Given the description of an element on the screen output the (x, y) to click on. 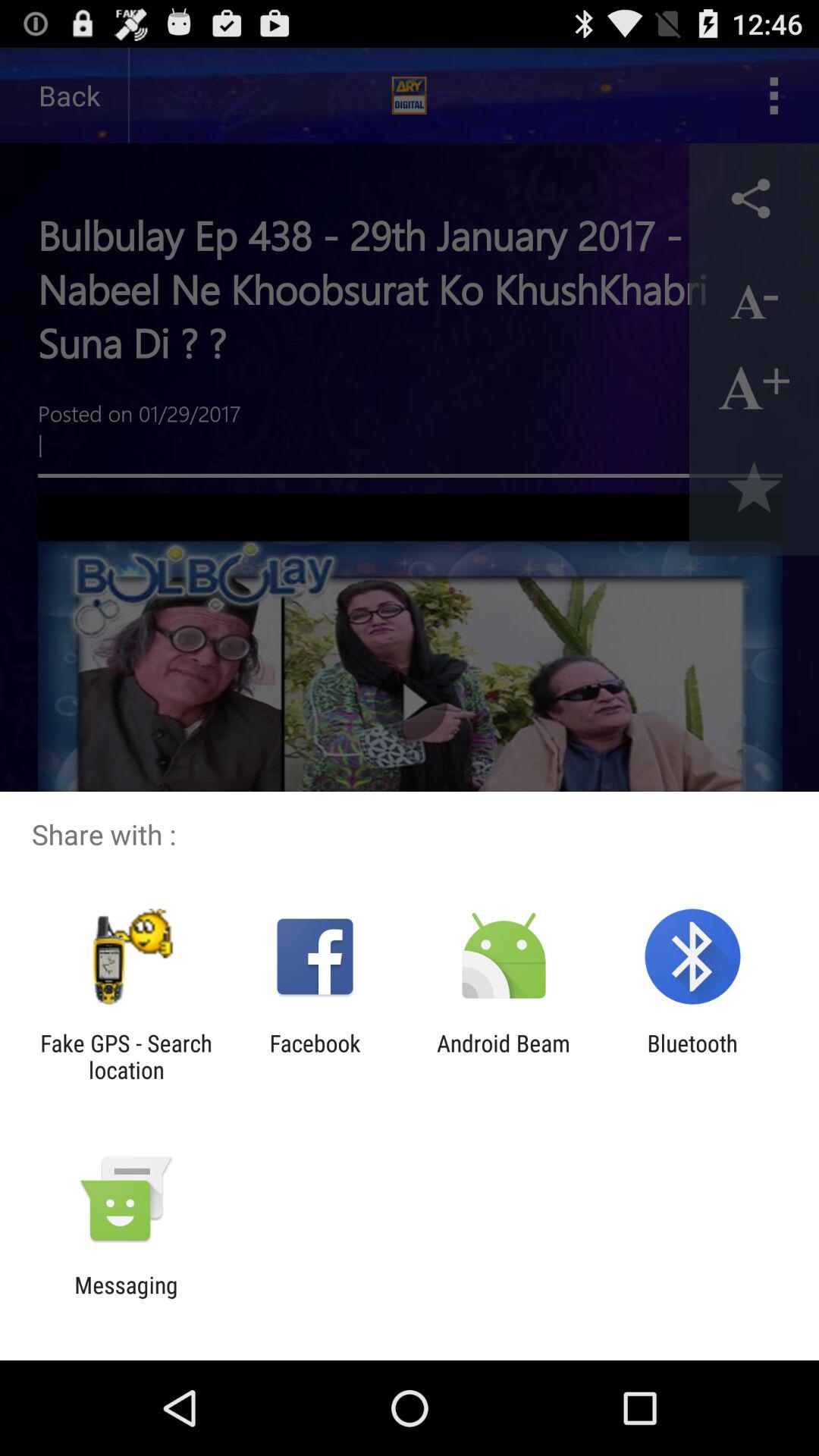
press icon next to the android beam item (314, 1056)
